Given the description of an element on the screen output the (x, y) to click on. 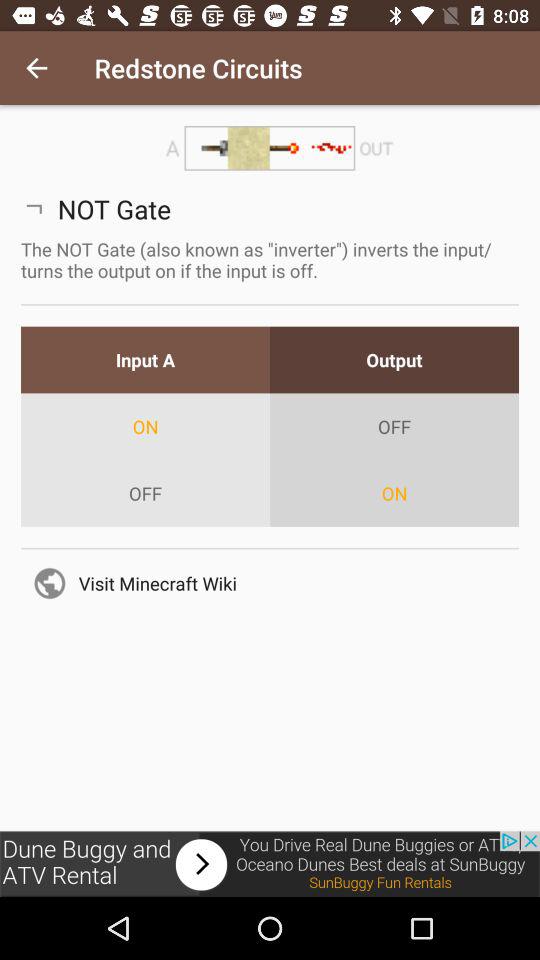
opens an advertisement (270, 864)
